Given the description of an element on the screen output the (x, y) to click on. 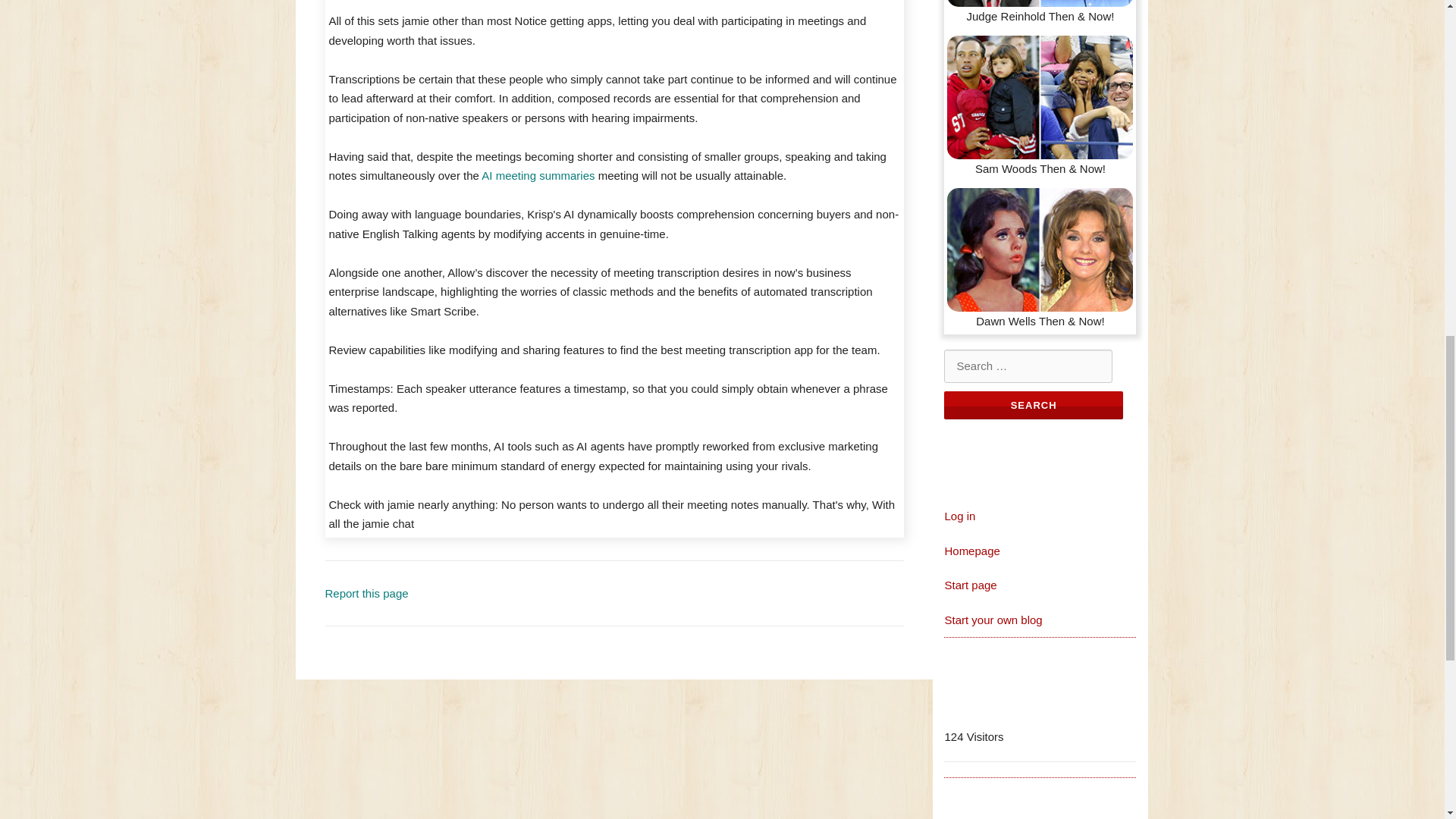
Search (1032, 405)
AI meeting summaries (537, 174)
Homepage (970, 550)
Start page (969, 584)
Report this page (365, 593)
Log in (959, 515)
Search (1032, 405)
Search (1032, 405)
Start your own blog (992, 619)
